Given the description of an element on the screen output the (x, y) to click on. 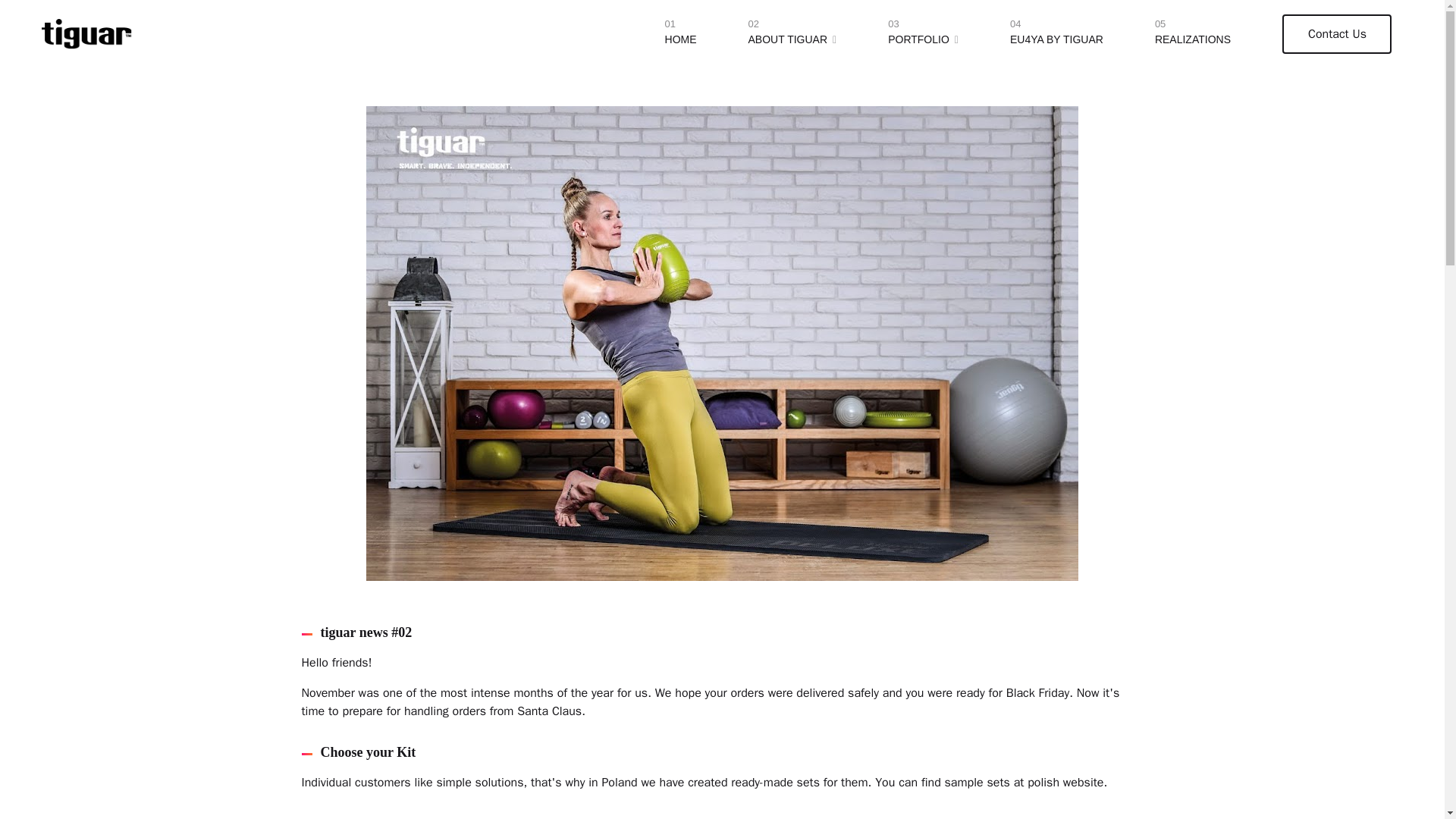
Contact Us (1336, 34)
